Given the description of an element on the screen output the (x, y) to click on. 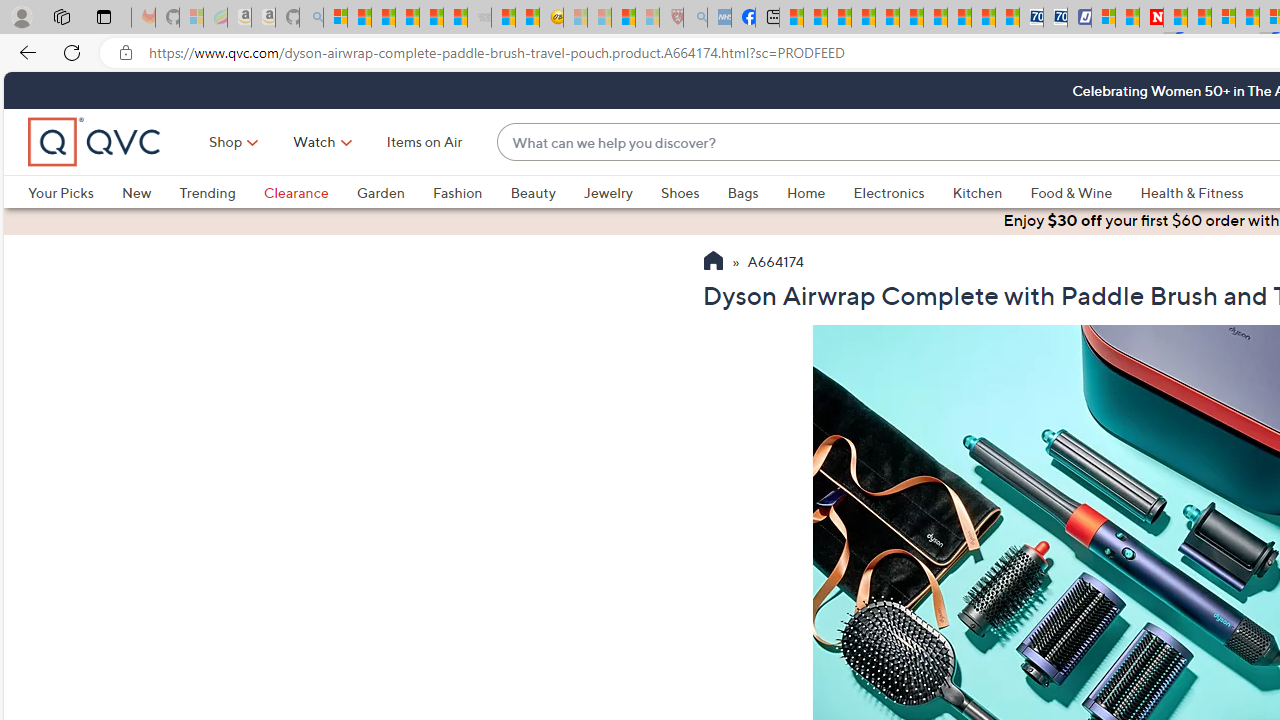
Latest Politics News & Archive | Newsweek.com (1151, 17)
Science - MSN (622, 17)
Kitchen (977, 192)
12 Popular Science Lies that Must be Corrected - Sleeping (647, 17)
Watch (314, 141)
Fashion (457, 192)
New (150, 192)
Climate Damage Becomes Too Severe To Reverse (863, 17)
Trending (221, 192)
New (136, 192)
